Given the description of an element on the screen output the (x, y) to click on. 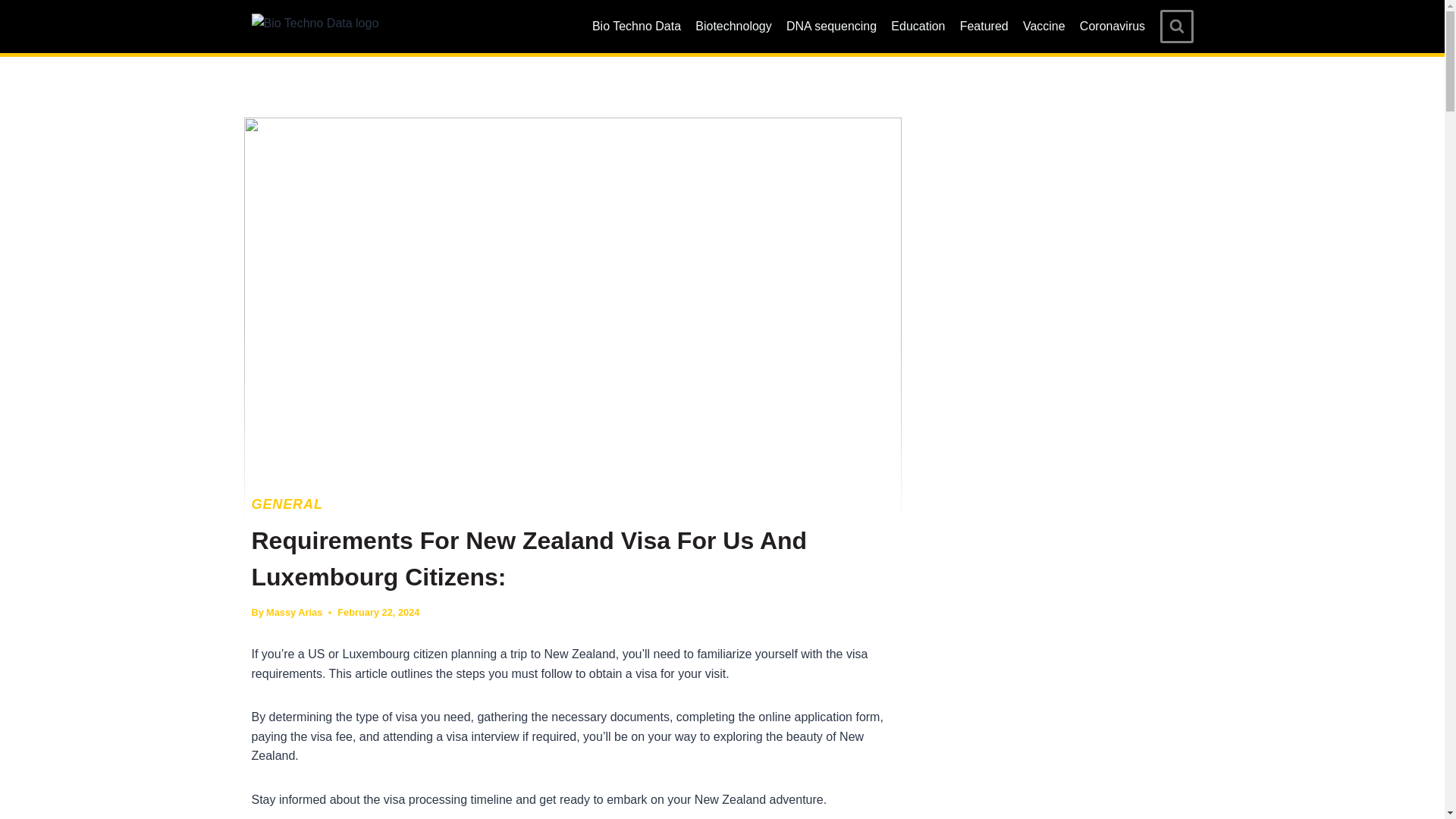
Featured (983, 26)
Massy Arias (293, 612)
GENERAL (287, 503)
Bio Techno Data (636, 26)
DNA sequencing (830, 26)
Biotechnology (733, 26)
Coronavirus (1111, 26)
Education (917, 26)
Vaccine (1042, 26)
